Given the description of an element on the screen output the (x, y) to click on. 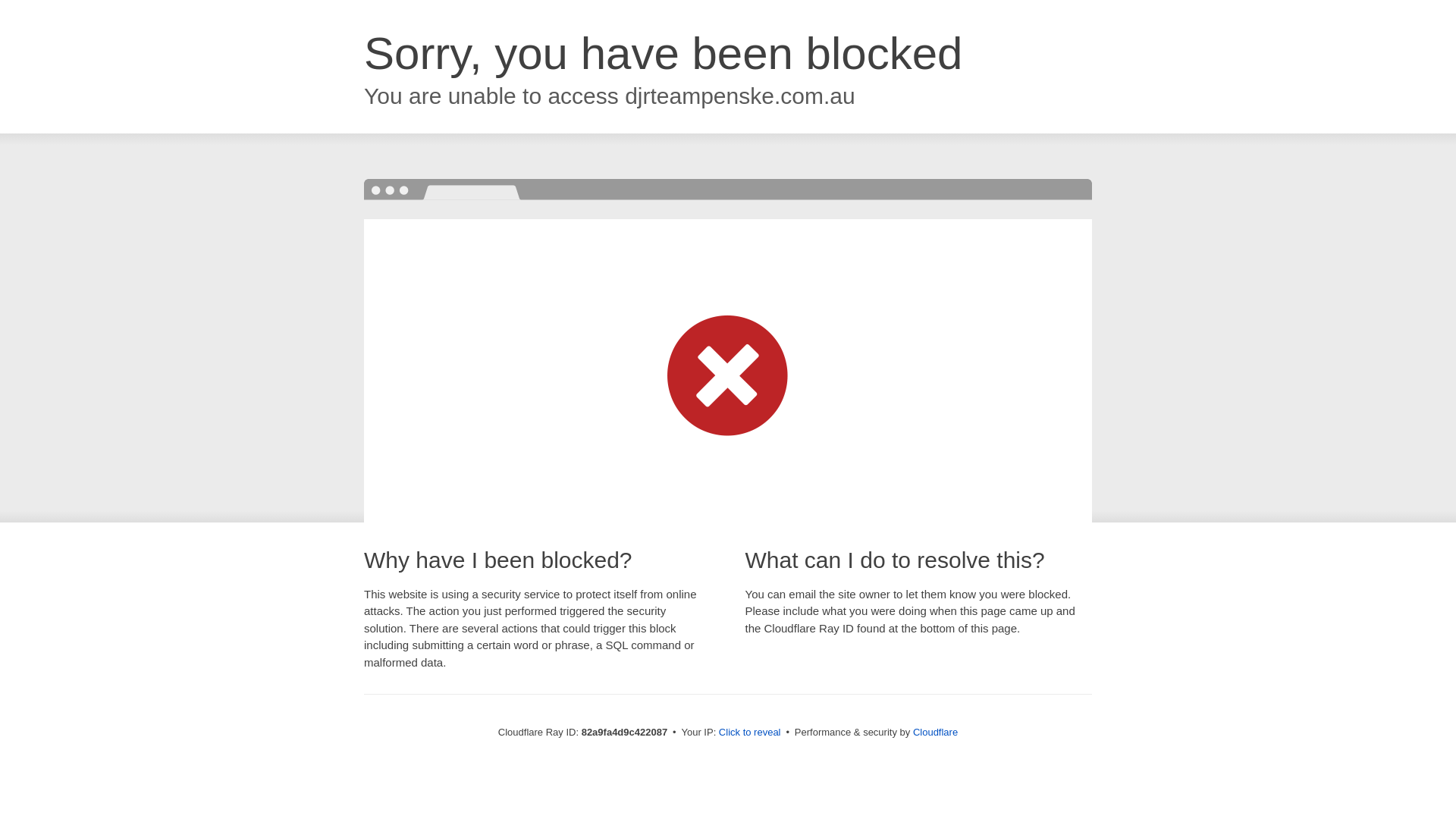
Click to reveal Element type: text (749, 732)
Cloudflare Element type: text (935, 731)
